Given the description of an element on the screen output the (x, y) to click on. 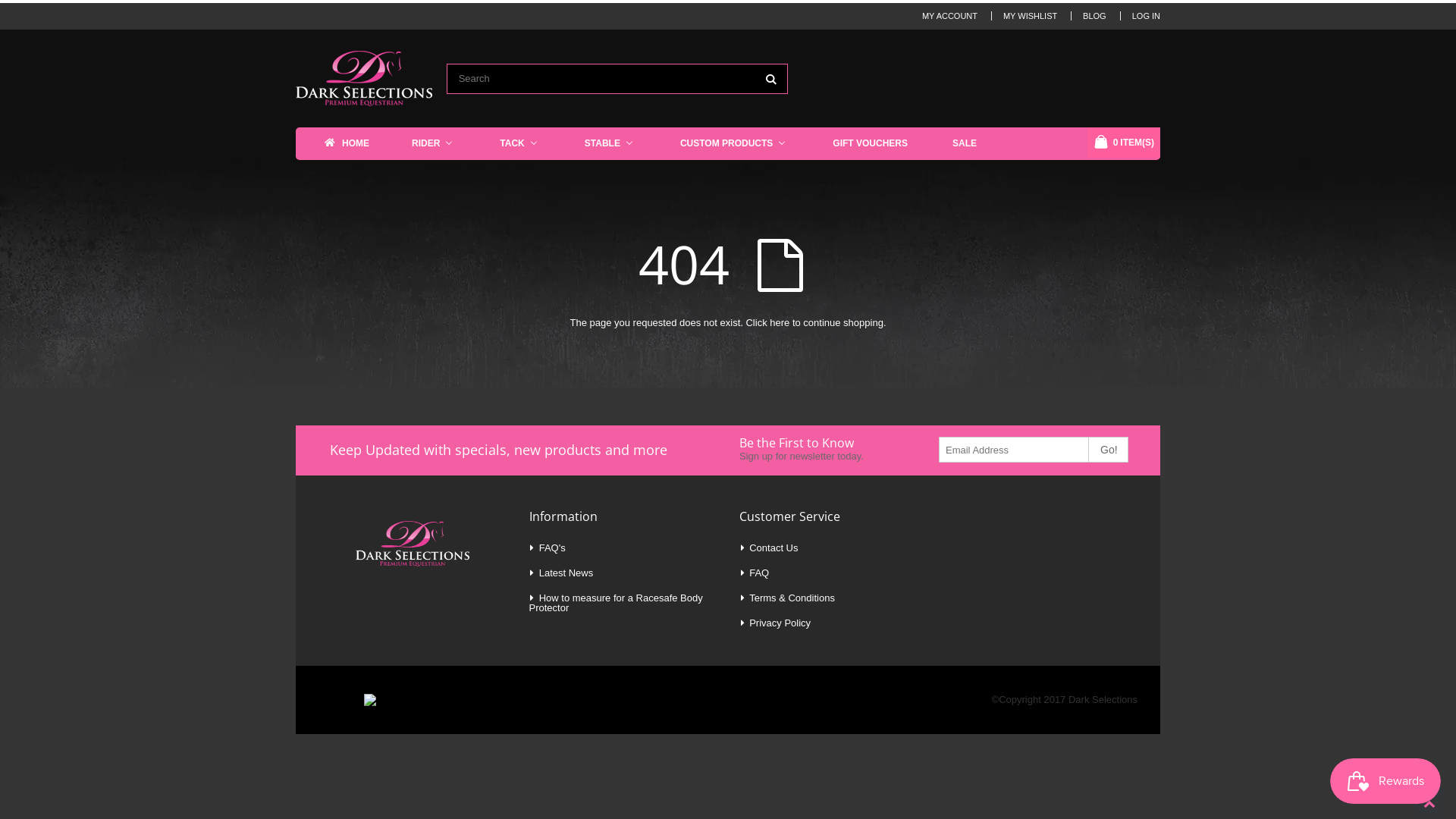
Smile.io Rewards Program Launcher Element type: hover (1385, 780)
RIDER Element type: text (436, 142)
BLOG Element type: text (1094, 15)
How to measure for a Racesafe Body Protector Element type: text (615, 602)
STABLE Element type: text (612, 142)
LOG IN Element type: text (1146, 15)
Latest News Element type: text (566, 572)
MY WISHLIST Element type: text (1030, 15)
FAQ Element type: text (758, 572)
0ITEM(S) Element type: text (1123, 142)
here Element type: text (779, 322)
FAQ's Element type: text (552, 547)
Terms & Conditions Element type: text (791, 597)
MY ACCOUNT Element type: text (949, 15)
Go! Element type: text (1107, 449)
Privacy Policy Element type: text (779, 622)
SALE Element type: text (967, 142)
HOME Element type: text (348, 143)
TACK Element type: text (522, 142)
Contact Us Element type: text (773, 547)
GIFT VOUCHERS Element type: text (872, 142)
CUSTOM PRODUCTS Element type: text (737, 142)
